Given the description of an element on the screen output the (x, y) to click on. 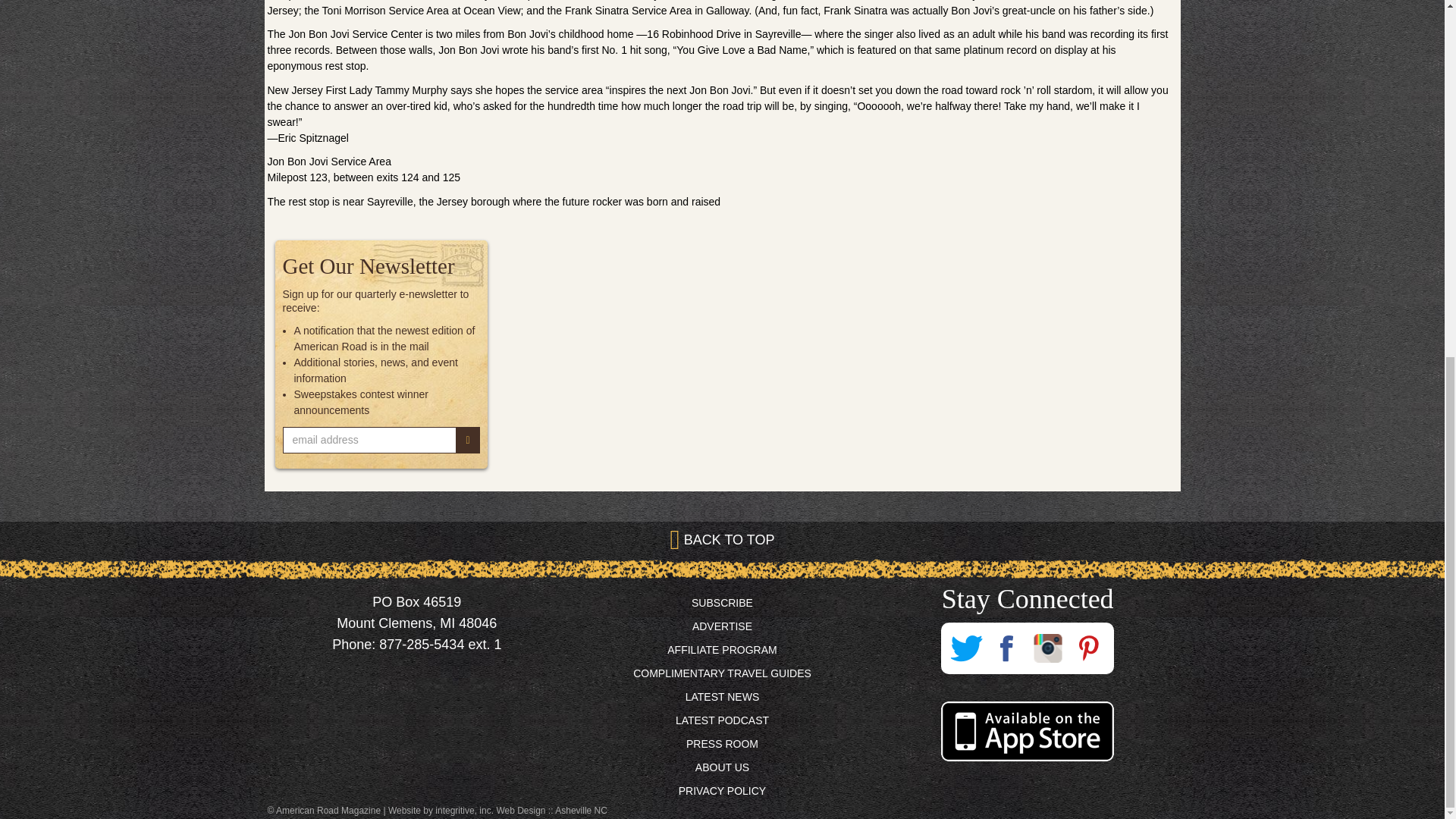
Connect with American Road Magazine on Pinterest (1088, 647)
Connect with American Road Magazine on Instagram (1047, 647)
Connect with American Road Magazine on Facebook (1006, 647)
Connect with American Road Magazine on Twitter (965, 647)
